Given the description of an element on the screen output the (x, y) to click on. 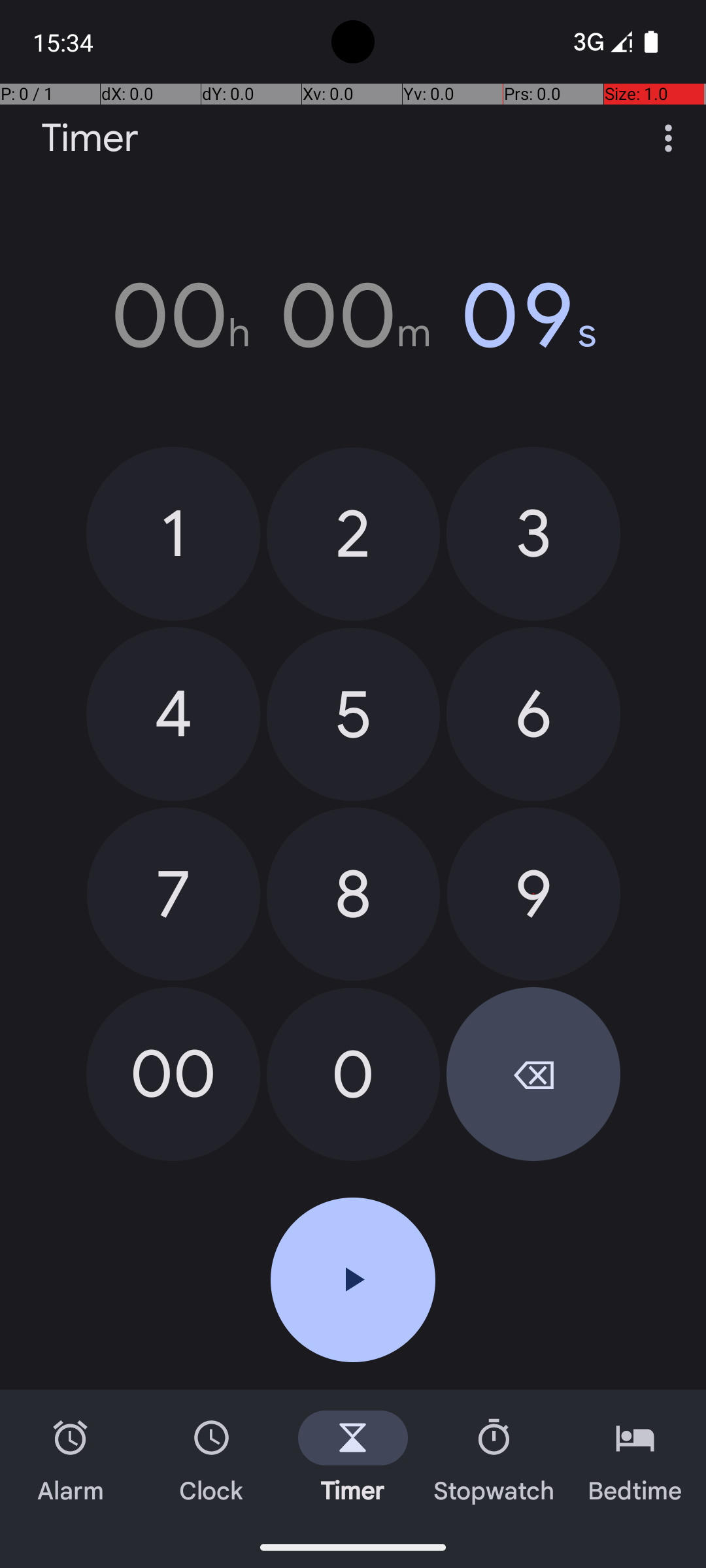
00h 00m 09s Element type: android.widget.TextView (353, 315)
